Given the description of an element on the screen output the (x, y) to click on. 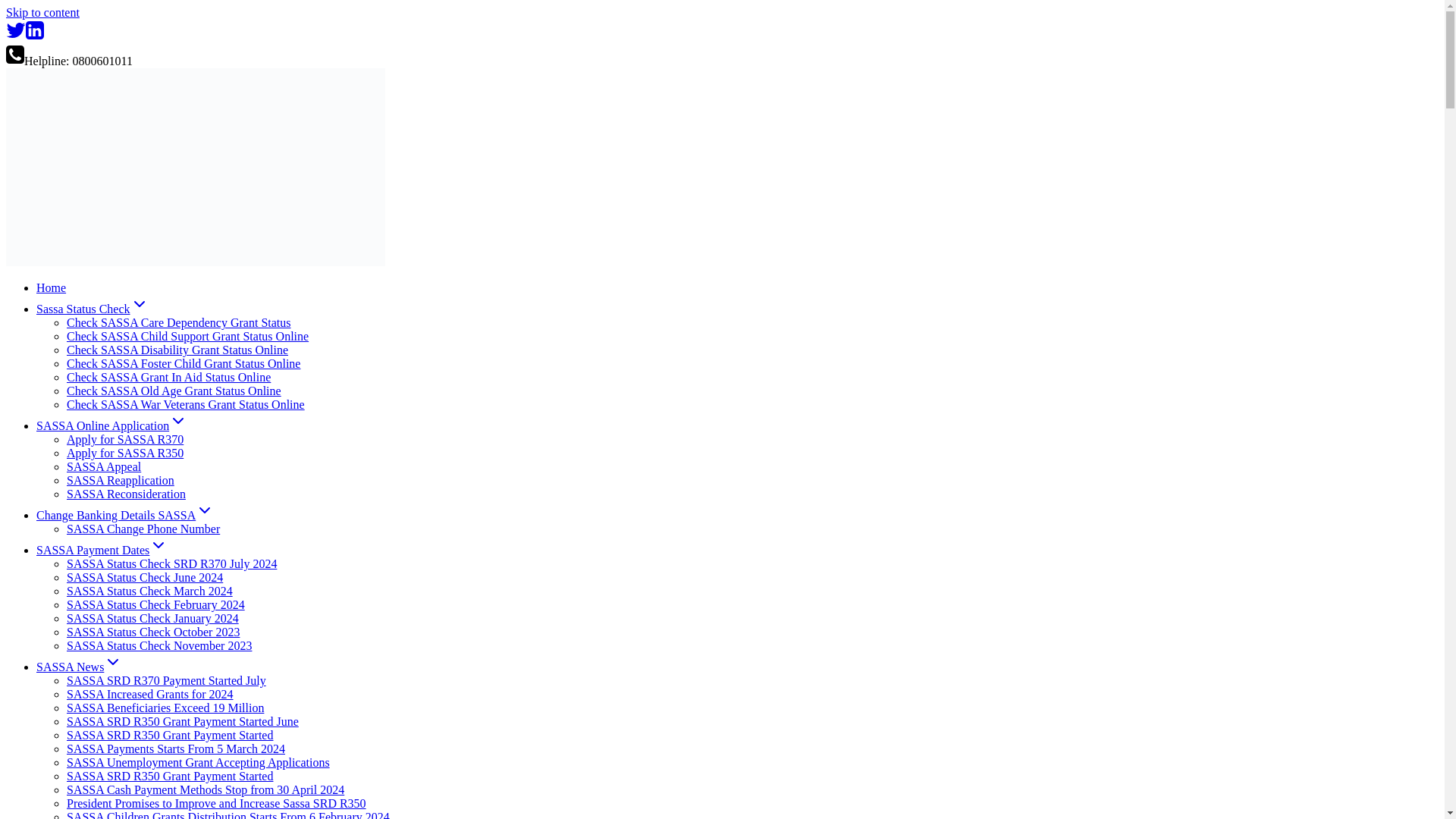
Linkedin (34, 36)
SASSA Status Check June 2024 (144, 576)
SASSA Unemployment Grant Accepting Applications (198, 762)
SASSA Reconsideration (126, 493)
Expand (139, 303)
SASSA Status Check October 2023 (153, 631)
SASSA SRD R370 Payment Started July (166, 680)
SASSA SRD R350 Grant Payment Started (169, 735)
SASSA Status Check November 2023 (158, 645)
SASSA Status Check SRD R370 July 2024 (171, 563)
SASSA Status Check January 2024 (152, 617)
SASSA Status Check February 2024 (155, 604)
SASSA SRD R350 Grant Payment Started June (182, 721)
Expand (177, 420)
SASSA Status Check March 2024 (149, 590)
